Given the description of an element on the screen output the (x, y) to click on. 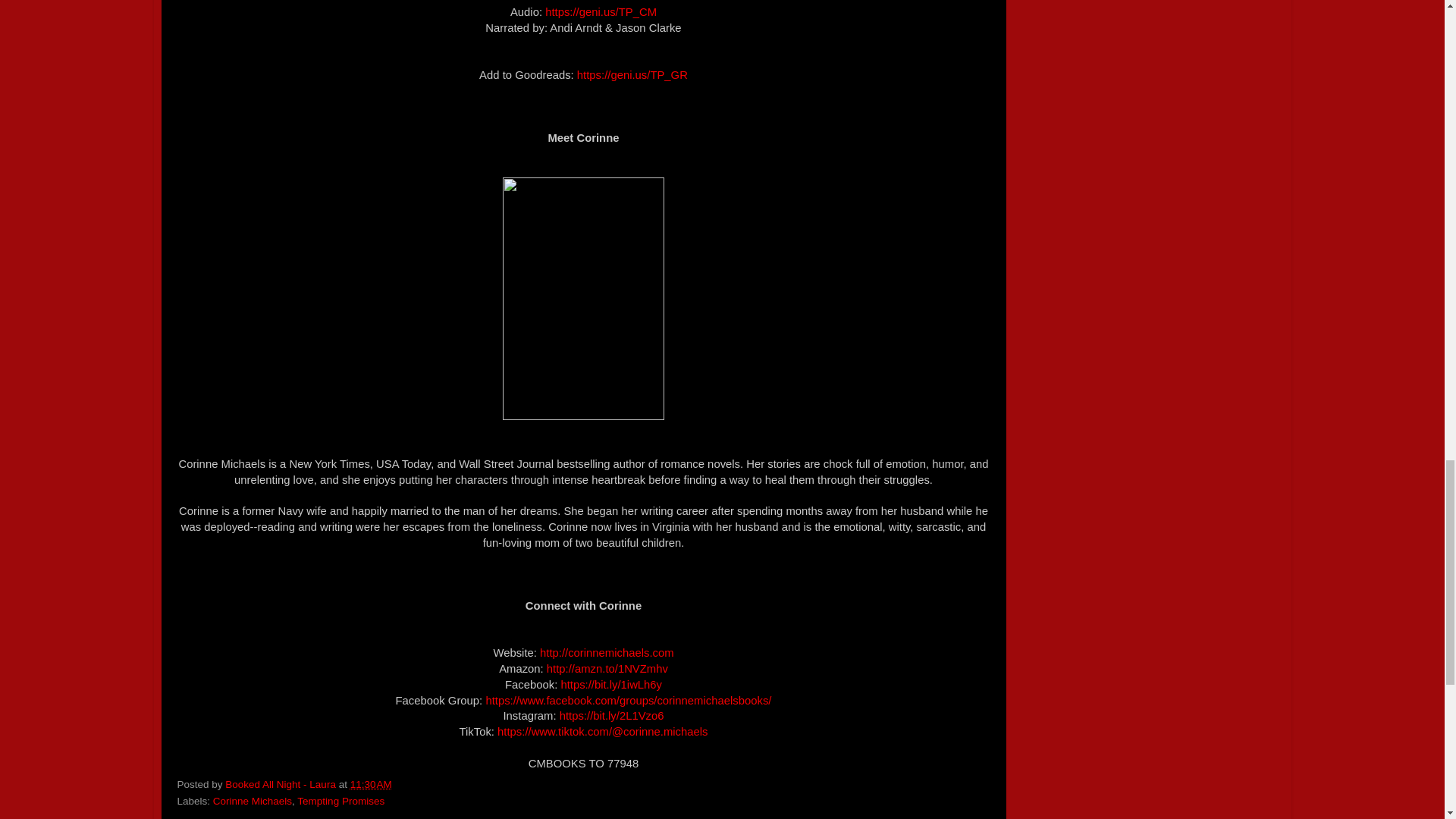
Booked All Night - Laura (281, 784)
permanent link (370, 784)
Corinne Michaels (252, 800)
Tempting Promises (340, 800)
author profile (281, 784)
